Given the description of an element on the screen output the (x, y) to click on. 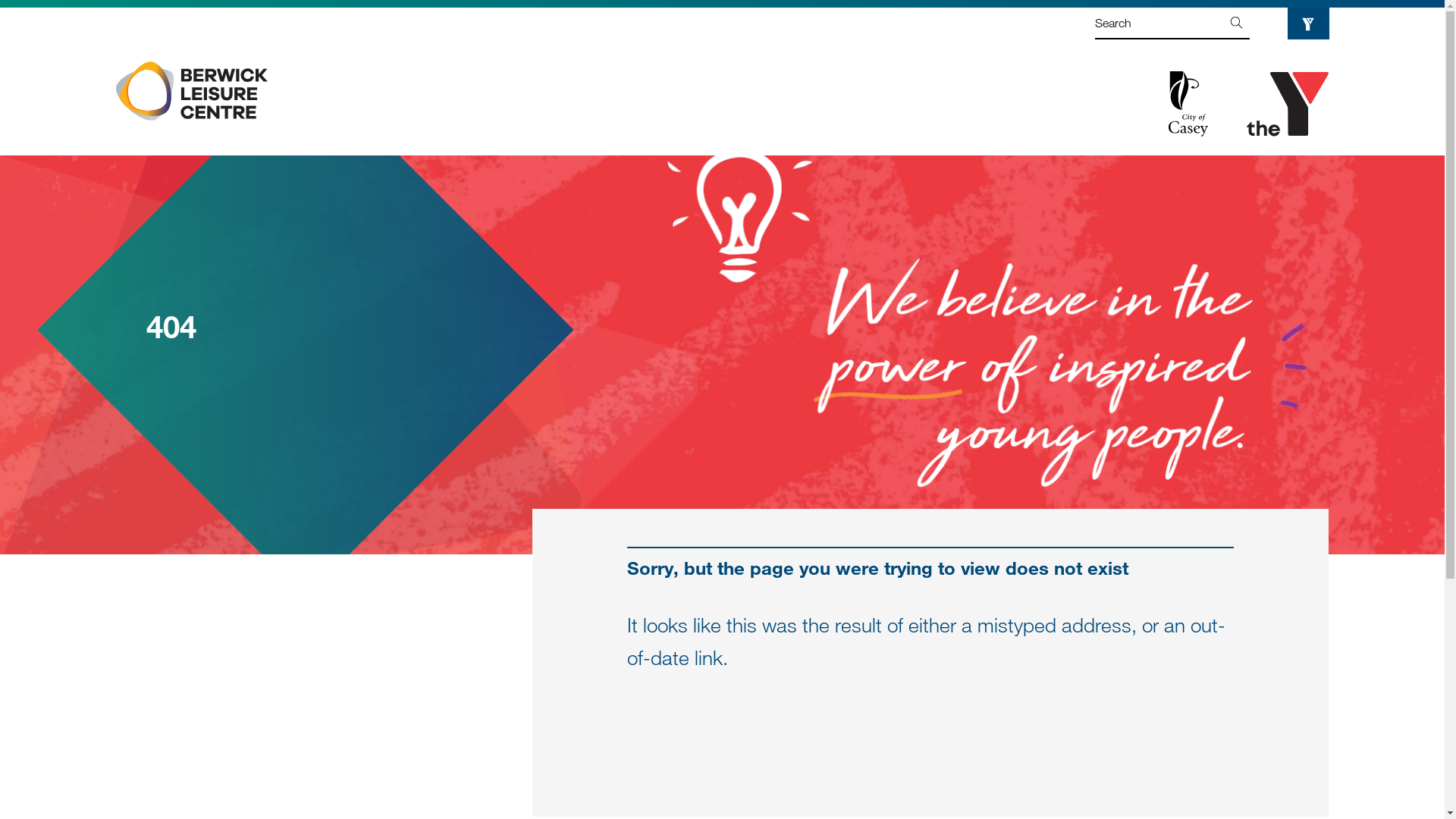
Go Element type: text (1235, 23)
